Given the description of an element on the screen output the (x, y) to click on. 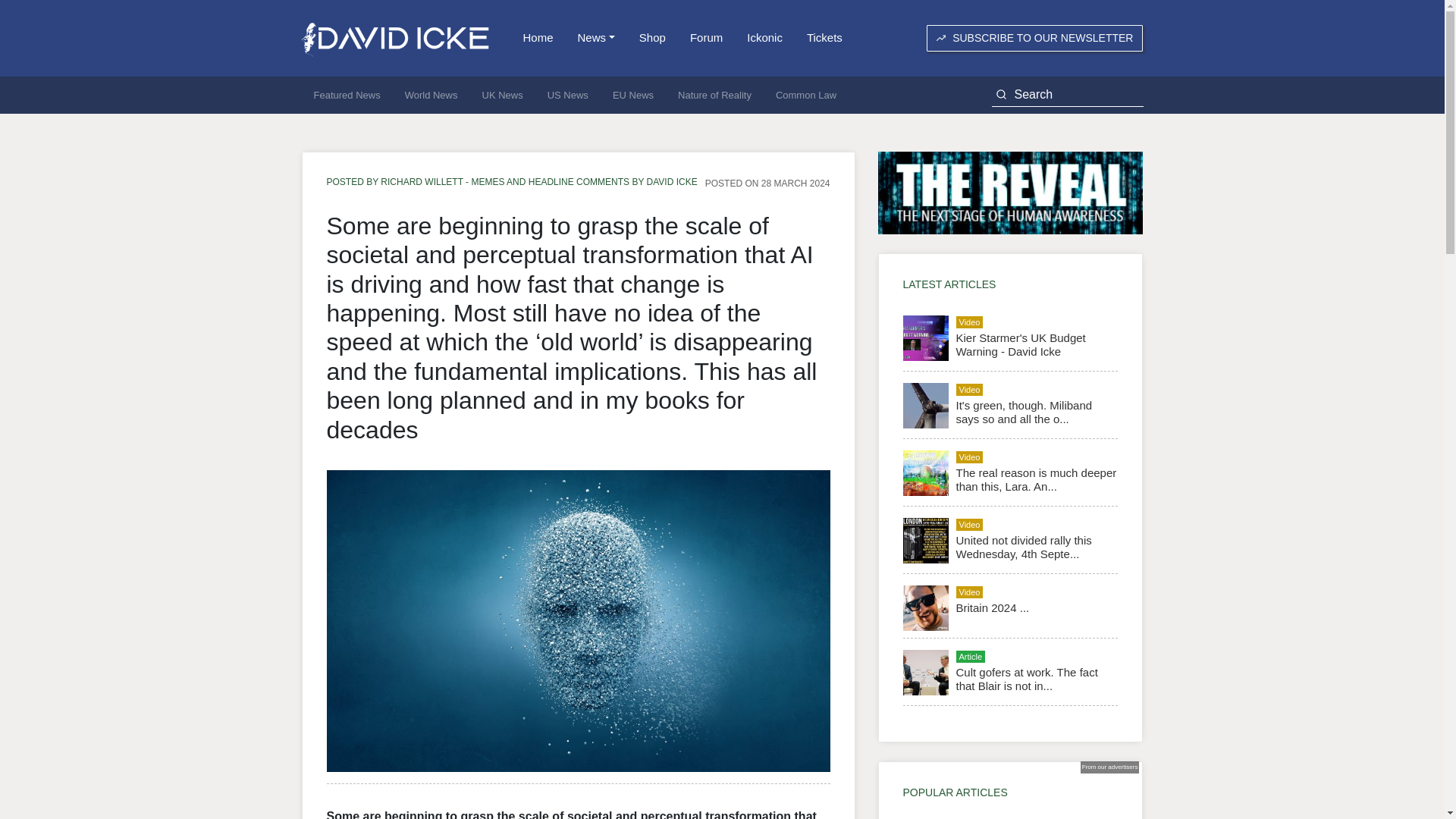
POSTED ON 28 MARCH 2024 (766, 182)
UK News (502, 94)
Ickonic (764, 37)
EU News (632, 94)
US News (567, 94)
Britain 2024 ... (992, 607)
Kier Starmer's UK Budget Warning - David Icke (1019, 344)
Common Law (805, 94)
Shop (652, 37)
